Given the description of an element on the screen output the (x, y) to click on. 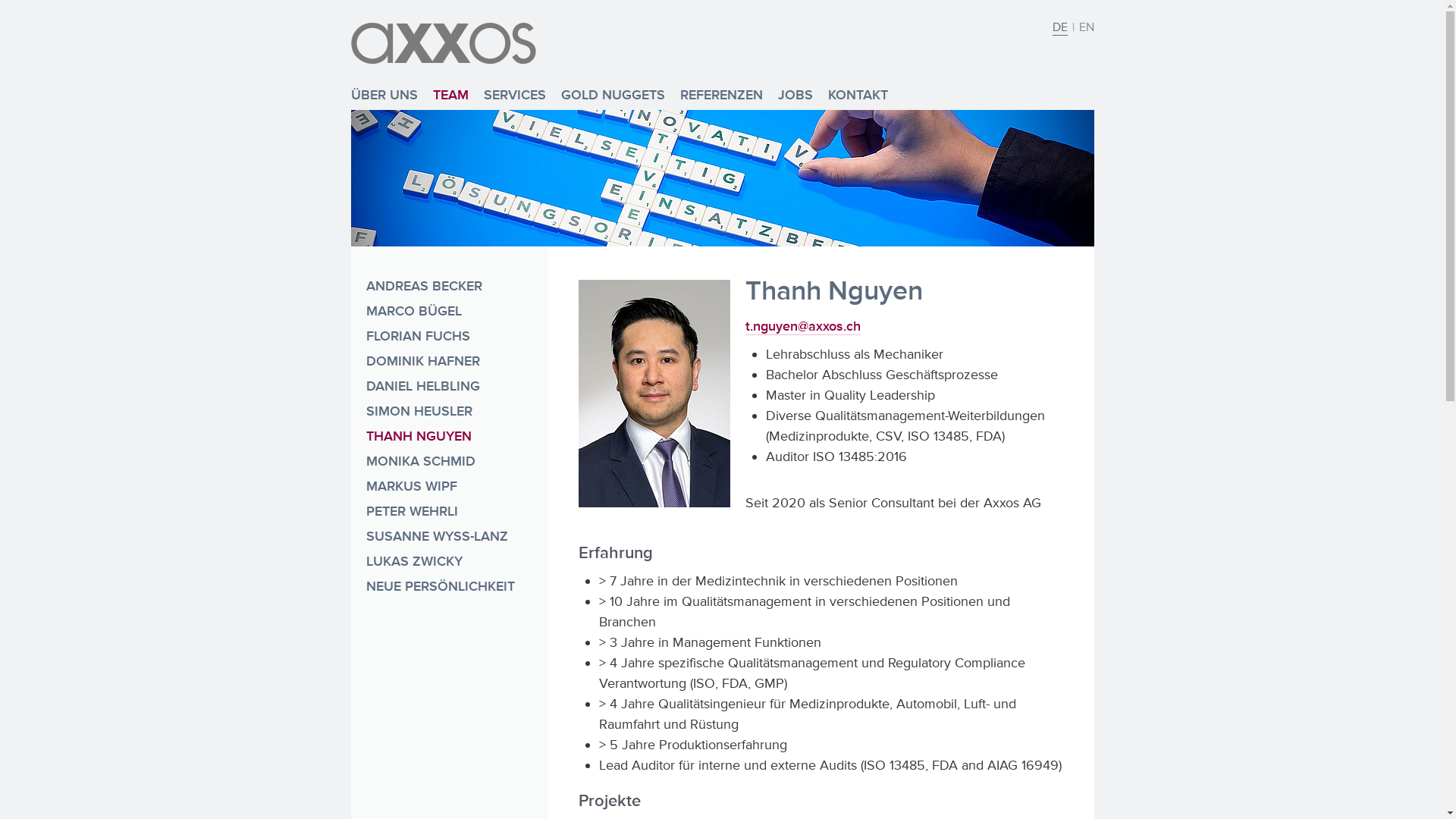
PETER WEHRLI Element type: text (448, 513)
DE Element type: text (1059, 27)
KONTAKT Element type: text (857, 94)
FLORIAN FUCHS Element type: text (448, 338)
SUSANNE WYSS-LANZ Element type: text (448, 538)
MONIKA SCHMID Element type: text (448, 463)
JOBS Element type: text (795, 94)
MARKUS WIPF Element type: text (448, 488)
t.nguyen@axxos.ch Element type: text (801, 326)
ANDREAS BECKER Element type: text (448, 288)
DANIEL HELBLING Element type: text (448, 388)
SERVICES Element type: text (514, 94)
TEAM Element type: text (449, 94)
REFERENZEN Element type: text (720, 94)
GOLD NUGGETS Element type: text (612, 94)
DOMINIK HAFNER Element type: text (448, 363)
SIMON HEUSLER Element type: text (448, 413)
LUKAS ZWICKY Element type: text (448, 563)
THANH NGUYEN Element type: text (448, 438)
EN Element type: text (1085, 27)
